Given the description of an element on the screen output the (x, y) to click on. 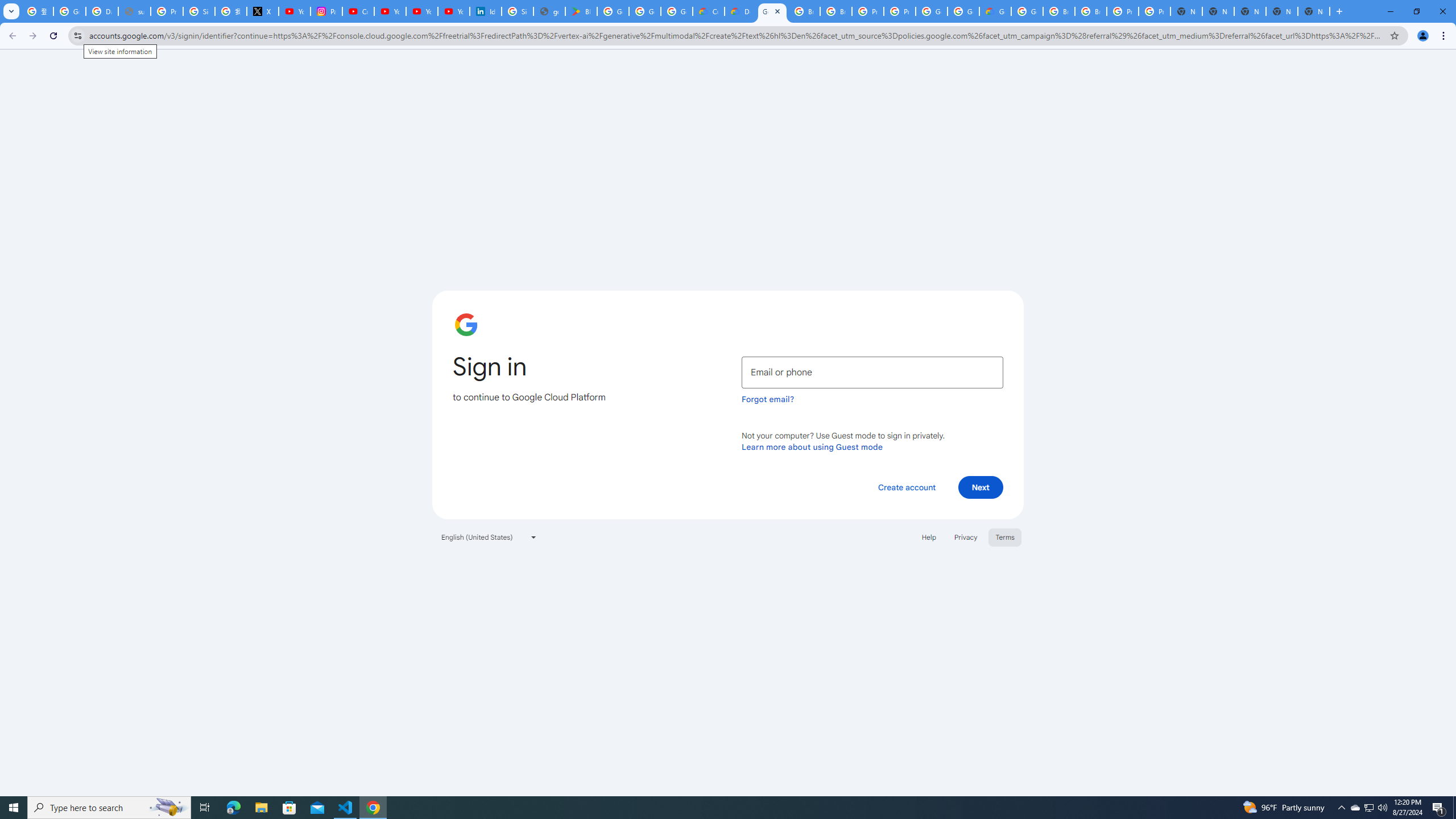
Bluey: Let's Play! - Apps on Google Play (581, 11)
YouTube Content Monetization Policies - How YouTube Works (294, 11)
Sign in - Google Accounts (517, 11)
Browse Chrome as a guest - Computer - Google Chrome Help (1059, 11)
Learn more about using Guest mode (812, 446)
support.google.com - Network error (134, 11)
Google Workspace - Specific Terms (644, 11)
Google Cloud Platform (1027, 11)
